Given the description of an element on the screen output the (x, y) to click on. 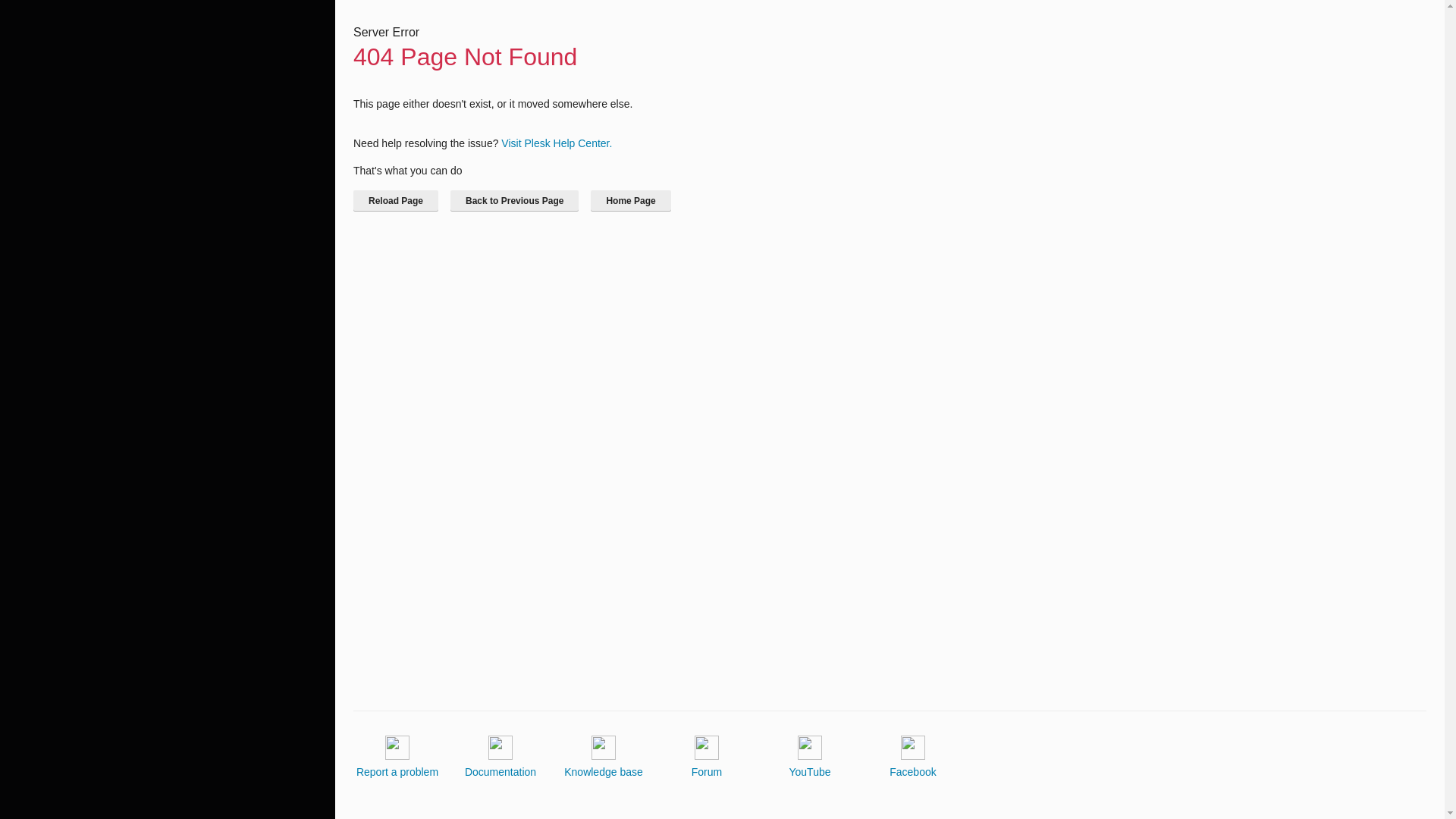
YouTube (809, 757)
Report a problem (397, 757)
Home Page (630, 200)
Forum (706, 757)
Reload Page (395, 200)
Visit Plesk Help Center. (555, 143)
Knowledge base (603, 757)
Documentation (500, 757)
Back to Previous Page (513, 200)
Facebook (912, 757)
